Given the description of an element on the screen output the (x, y) to click on. 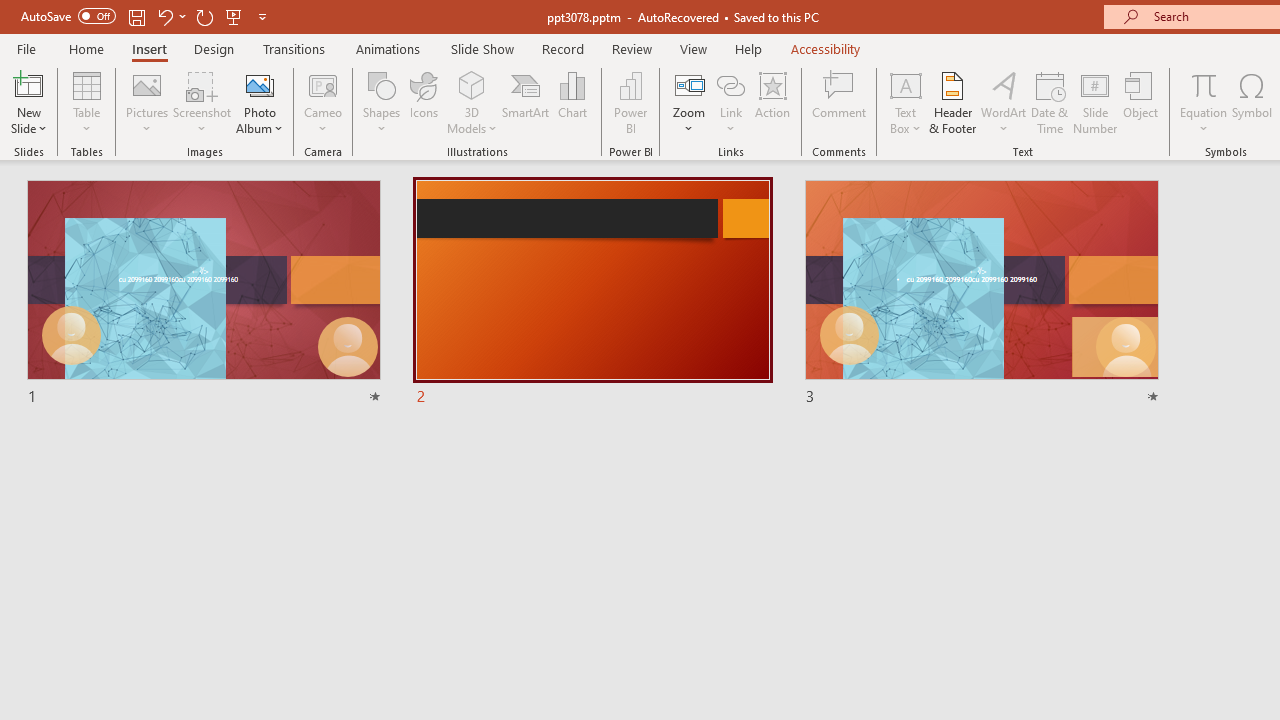
System (10, 11)
Cameo (323, 102)
Transitions (294, 48)
Slide Number (1095, 102)
Slide (981, 293)
Record (562, 48)
Undo (164, 15)
Equation (1203, 102)
Screenshot (202, 102)
New Slide (28, 84)
Text Box (905, 102)
Table (86, 102)
Date & Time... (1050, 102)
Zoom (689, 102)
SmartArt... (525, 102)
